Given the description of an element on the screen output the (x, y) to click on. 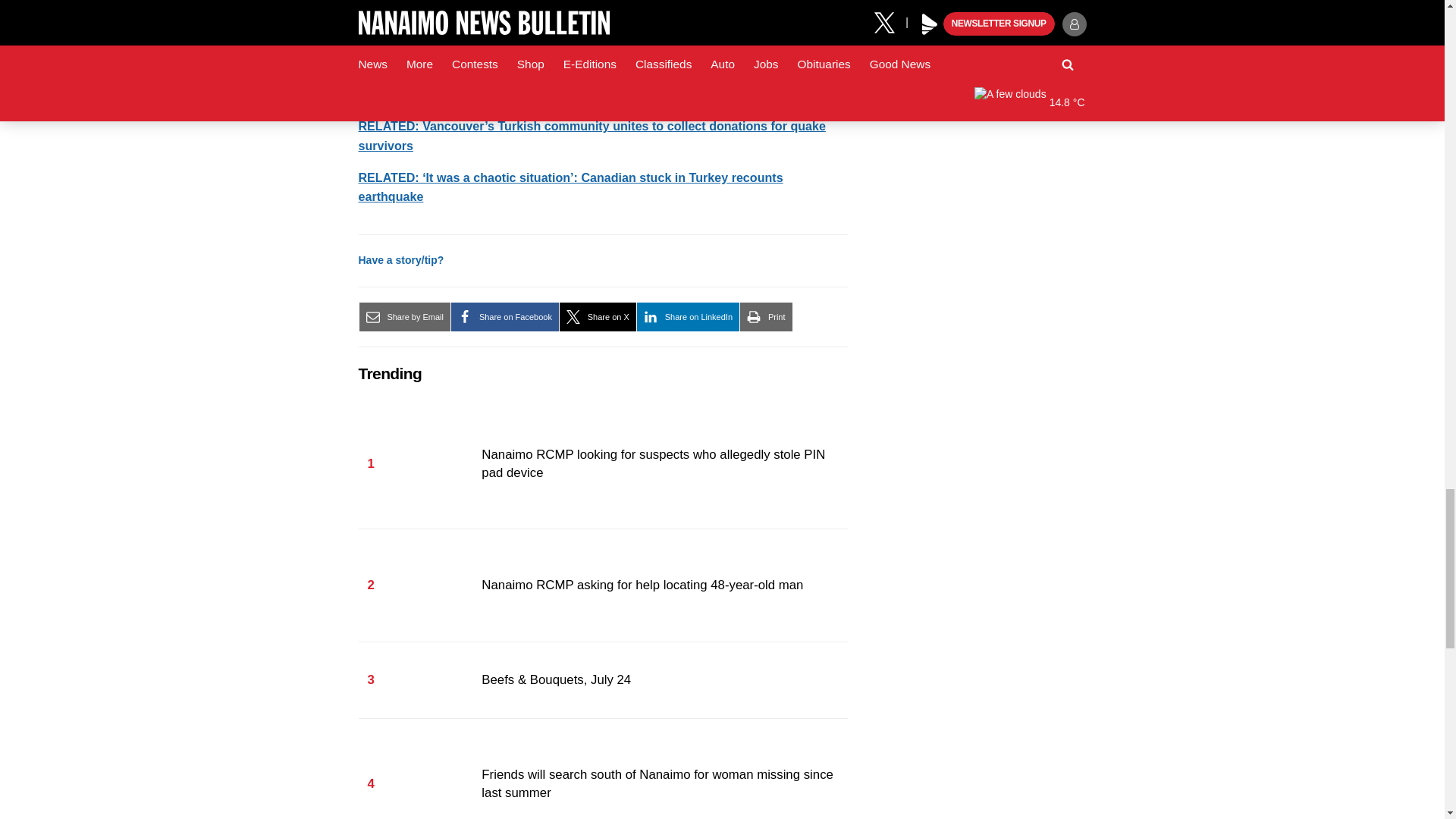
related story (570, 186)
related story (591, 135)
